Given the description of an element on the screen output the (x, y) to click on. 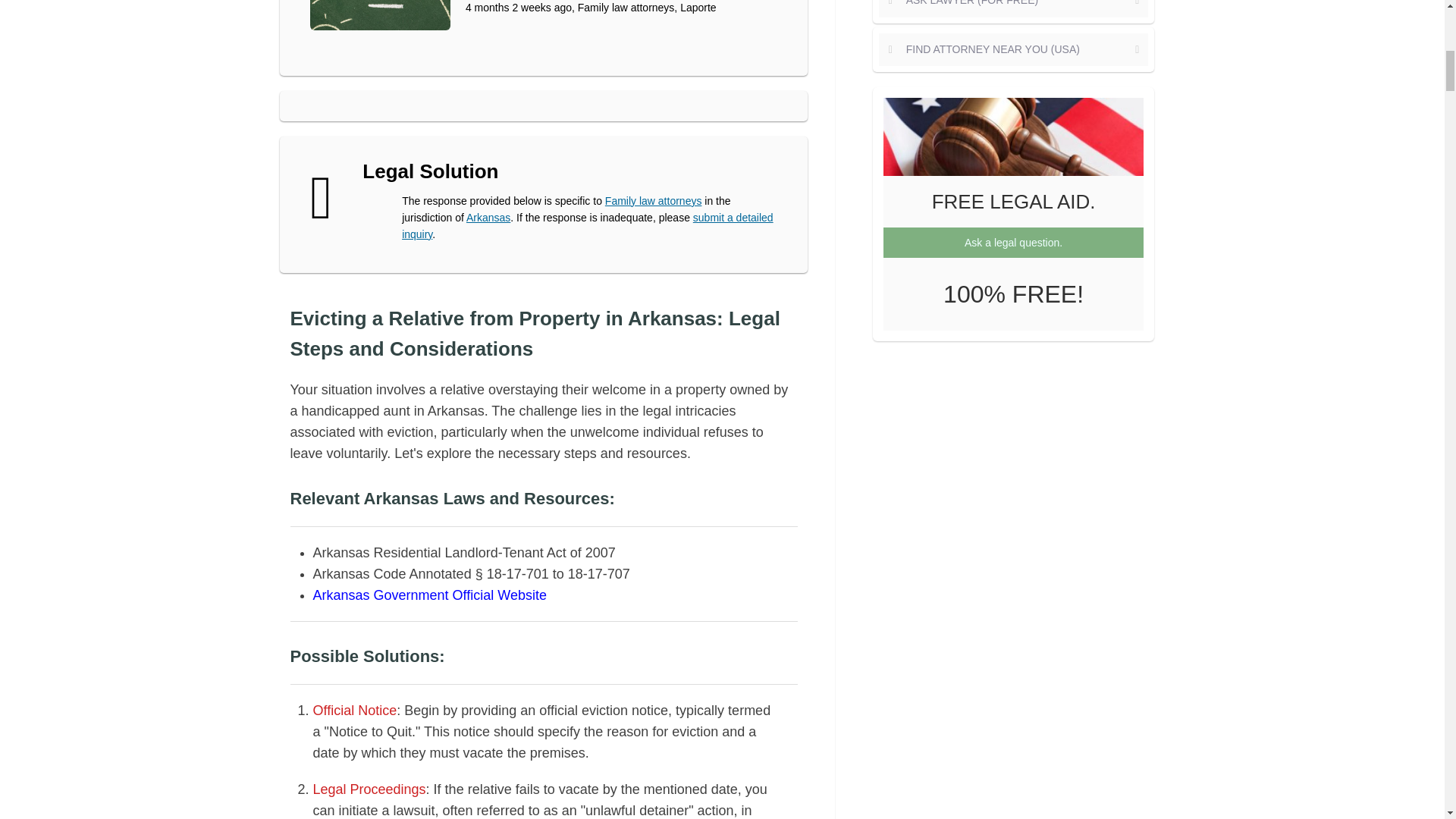
Ask a legal question online and free of charge! (587, 225)
Arkansas (488, 217)
Family law attorneys (653, 200)
Arkansas Government Official Website (429, 595)
submit a detailed inquiry (587, 225)
